Given the description of an element on the screen output the (x, y) to click on. 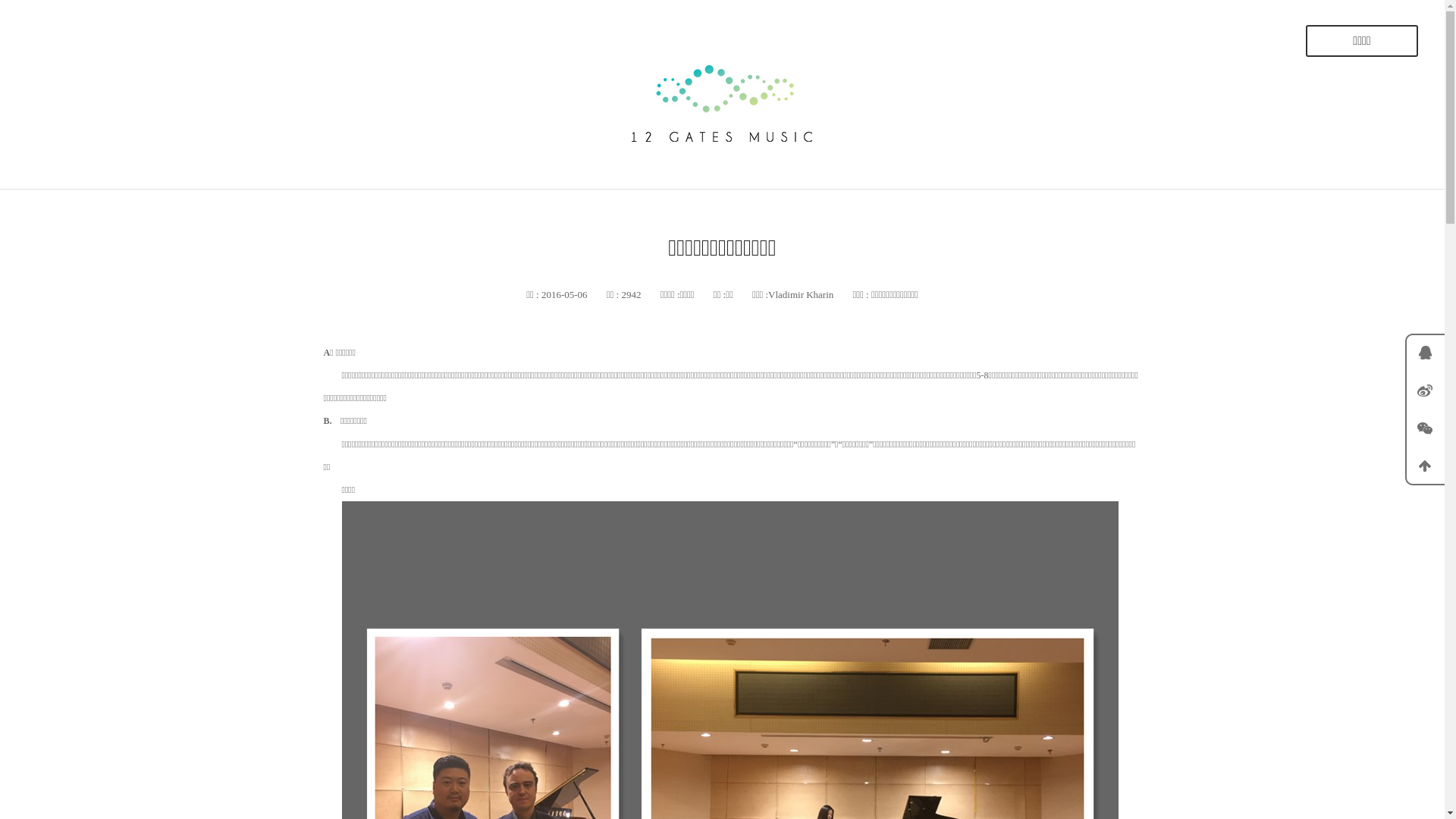
2942 Element type: text (629, 294)
Vladimir Kharin Element type: text (800, 294)
2016-05-06 Element type: text (563, 294)
